Given the description of an element on the screen output the (x, y) to click on. 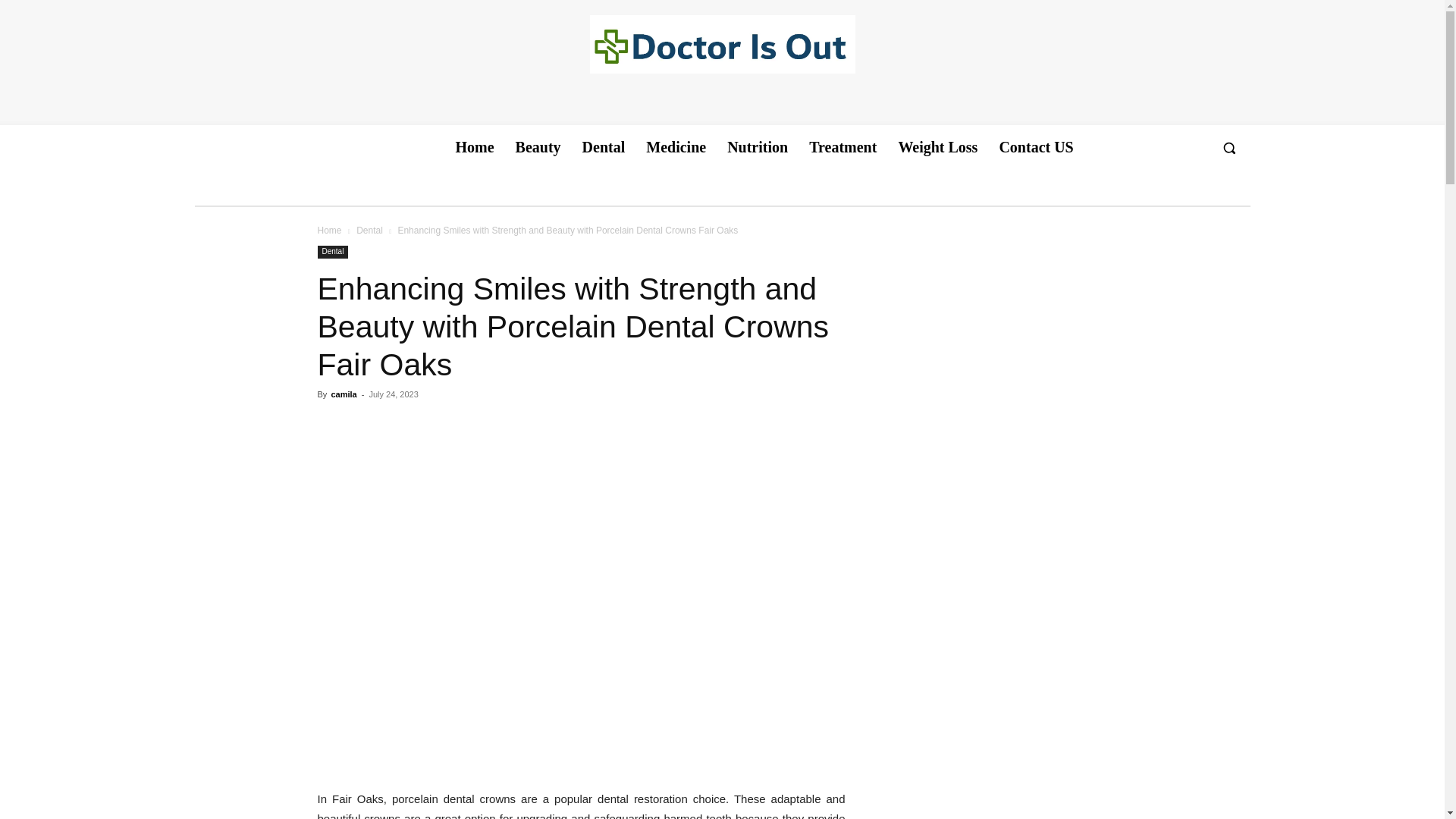
Beauty (538, 146)
Dental (604, 146)
Nutrition (756, 146)
Home (473, 146)
Treatment (841, 146)
Contact US (1035, 146)
Weight Loss (937, 146)
Medicine (675, 146)
